Given the description of an element on the screen output the (x, y) to click on. 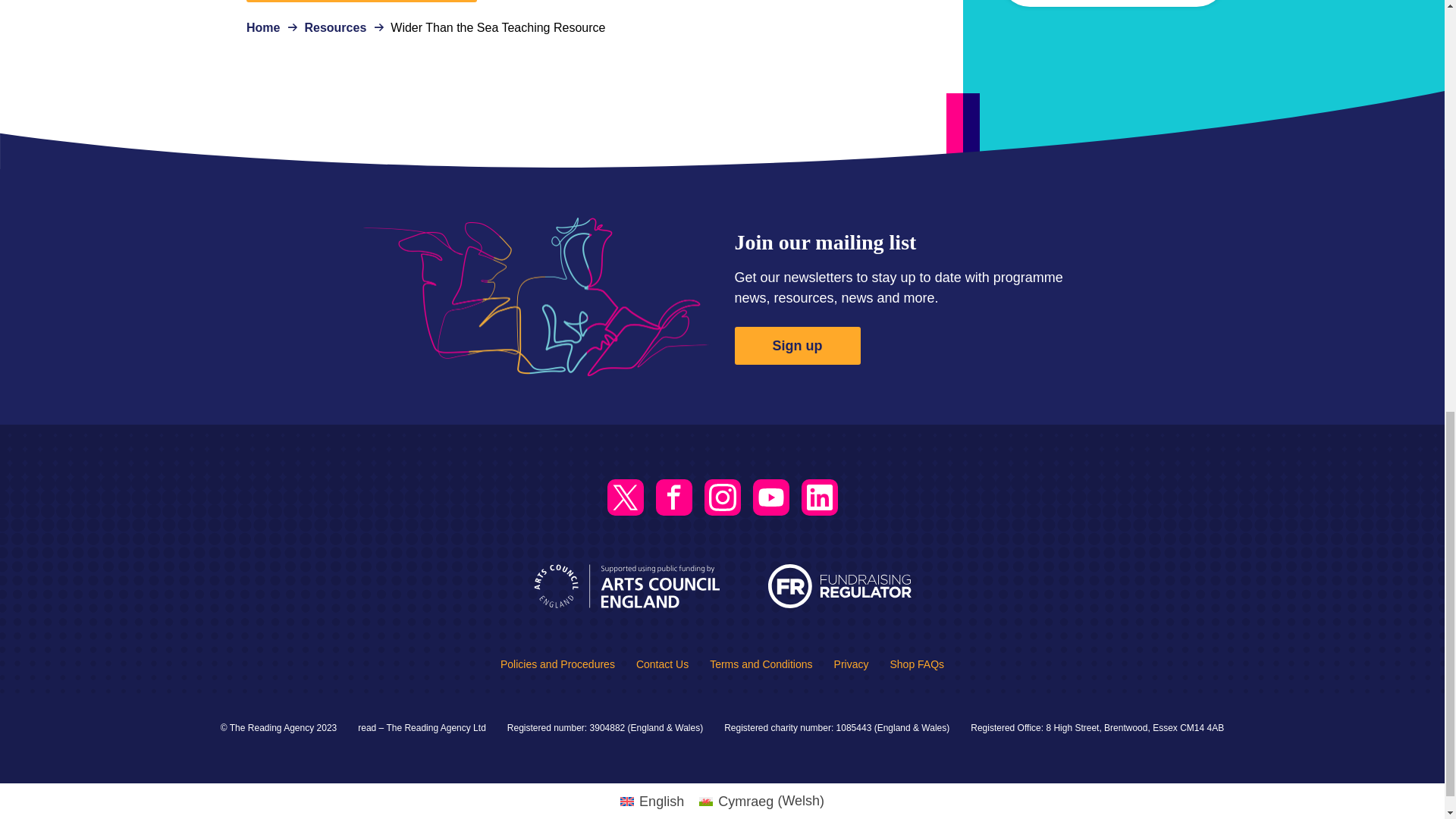
Privacy (851, 664)
Home (262, 27)
Shop FAQs (916, 664)
YouTube (770, 497)
Terms and Conditions (761, 664)
Facebook (673, 497)
Twitter (625, 497)
Instagram (721, 497)
Policies and Procedures (557, 664)
